Given the description of an element on the screen output the (x, y) to click on. 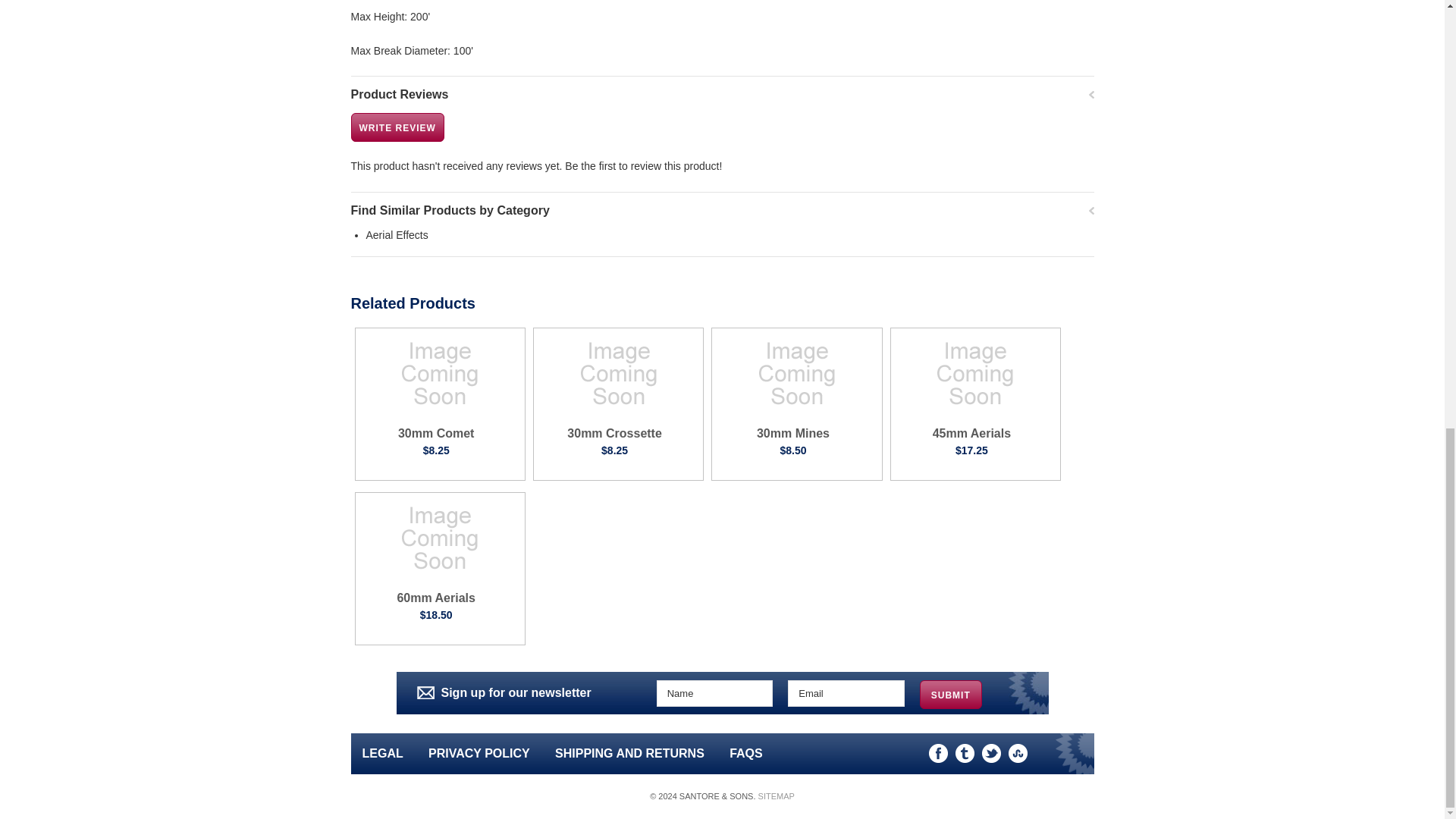
Twitter (990, 752)
StumbleUpon (1018, 752)
Email (845, 692)
Submit (950, 693)
Tumblr (964, 752)
Facebook (937, 752)
Name (714, 692)
